Given the description of an element on the screen output the (x, y) to click on. 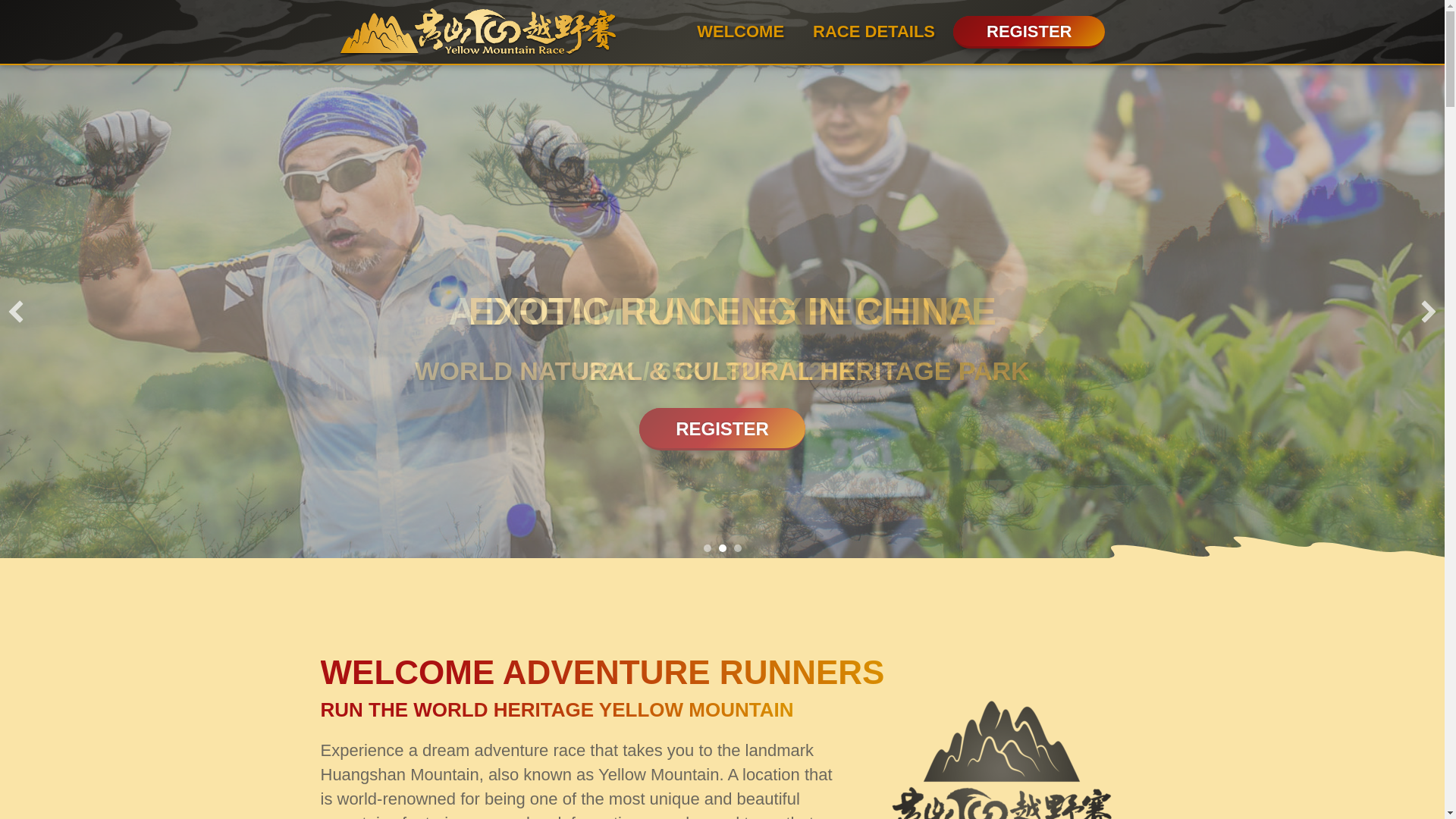
REGISTER (1029, 31)
2 (722, 548)
1 (707, 548)
Yellow Mountain Race (1001, 757)
3 (737, 548)
REGISTER (722, 428)
WELCOME (739, 31)
RACE DETAILS (873, 31)
